Given the description of an element on the screen output the (x, y) to click on. 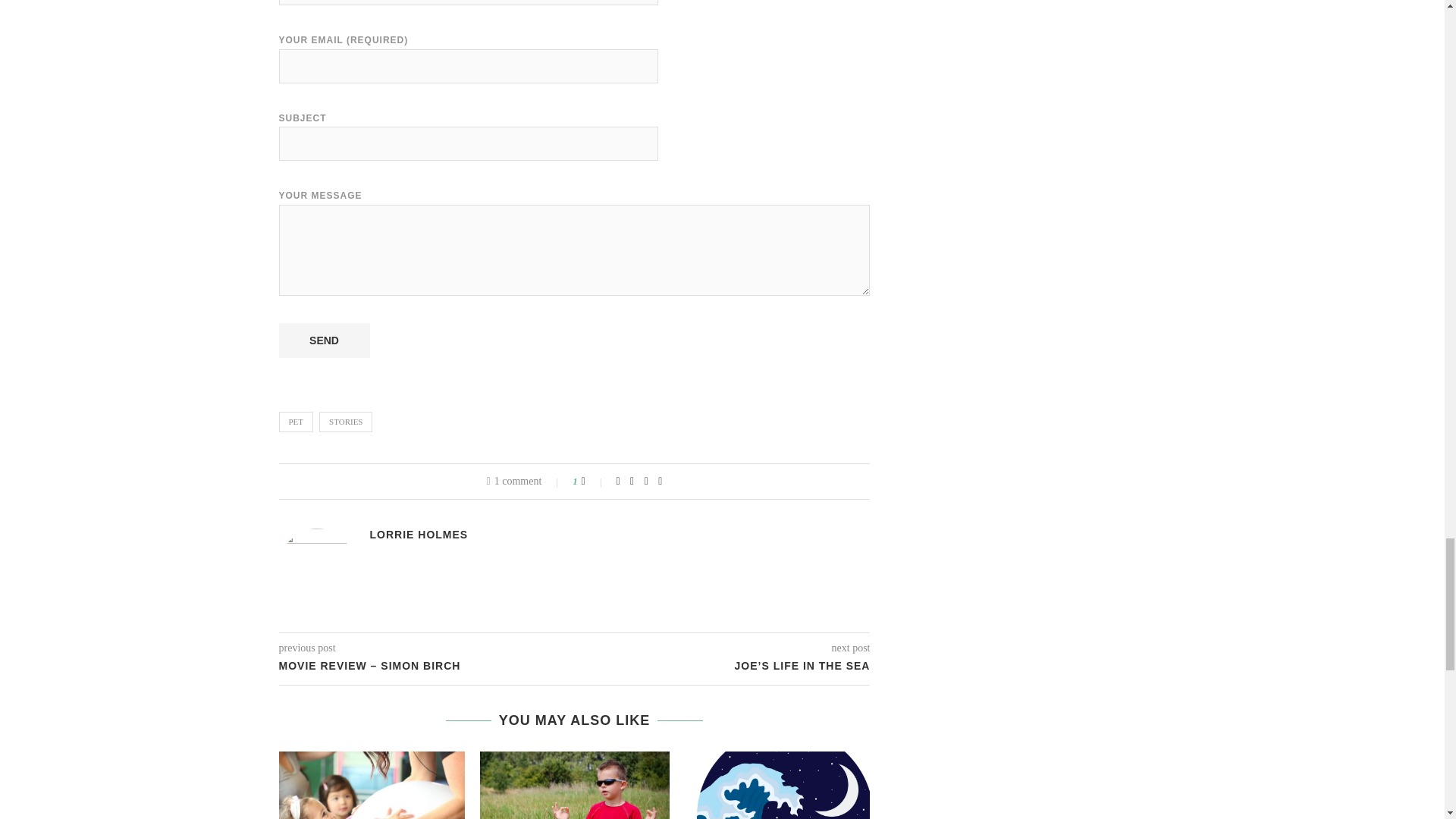
Like (592, 481)
Send (324, 339)
Posts by Lorrie Holmes (418, 534)
REACHING KIDS THROUGH MUSIC (369, 785)
